Given the description of an element on the screen output the (x, y) to click on. 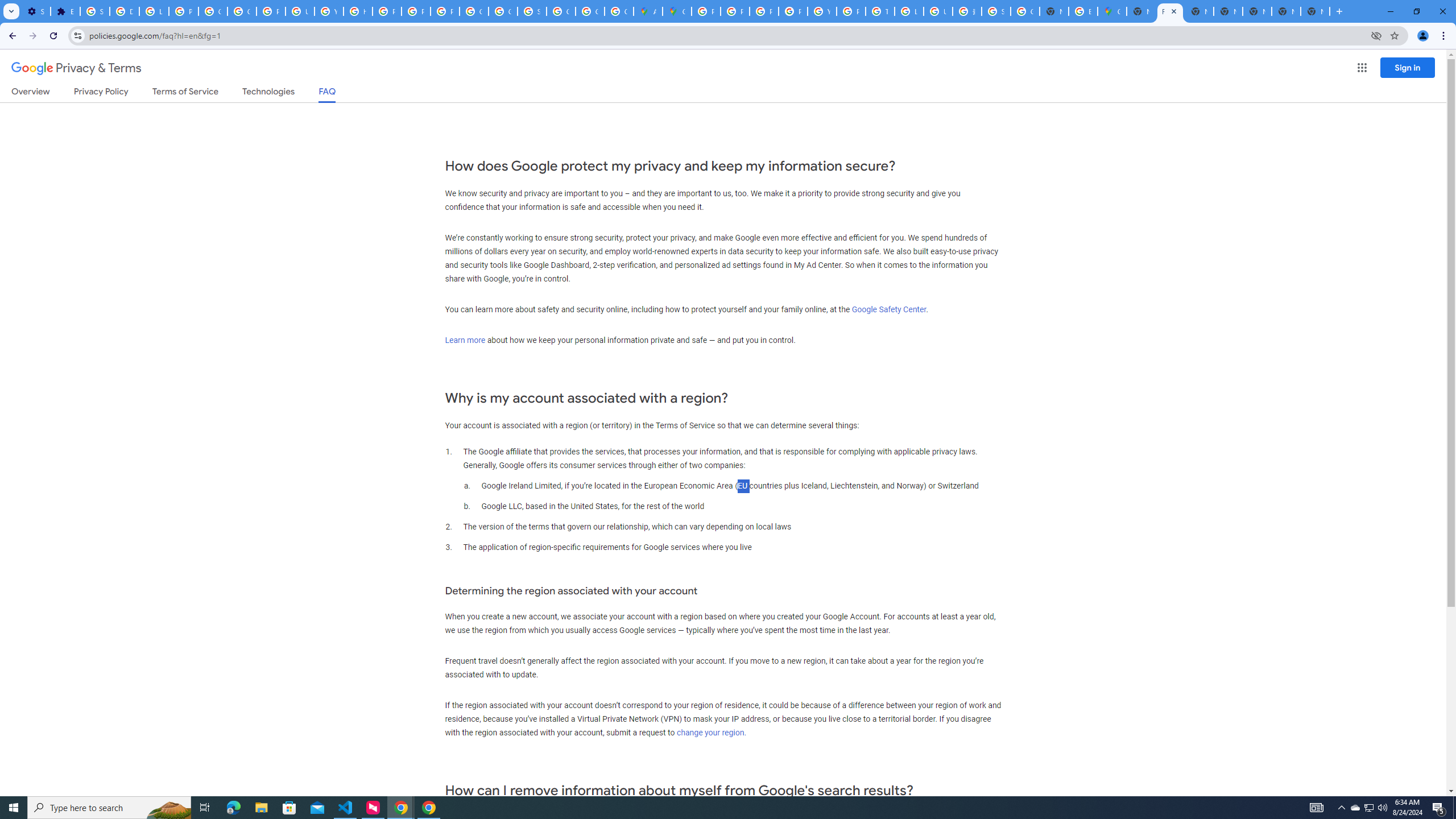
https://scholar.google.com/ (357, 11)
Google Maps (1111, 11)
Google Maps (677, 11)
Settings - On startup (35, 11)
Create your Google Account (619, 11)
Privacy Help Center - Policies Help (763, 11)
YouTube (327, 11)
